Given the description of an element on the screen output the (x, y) to click on. 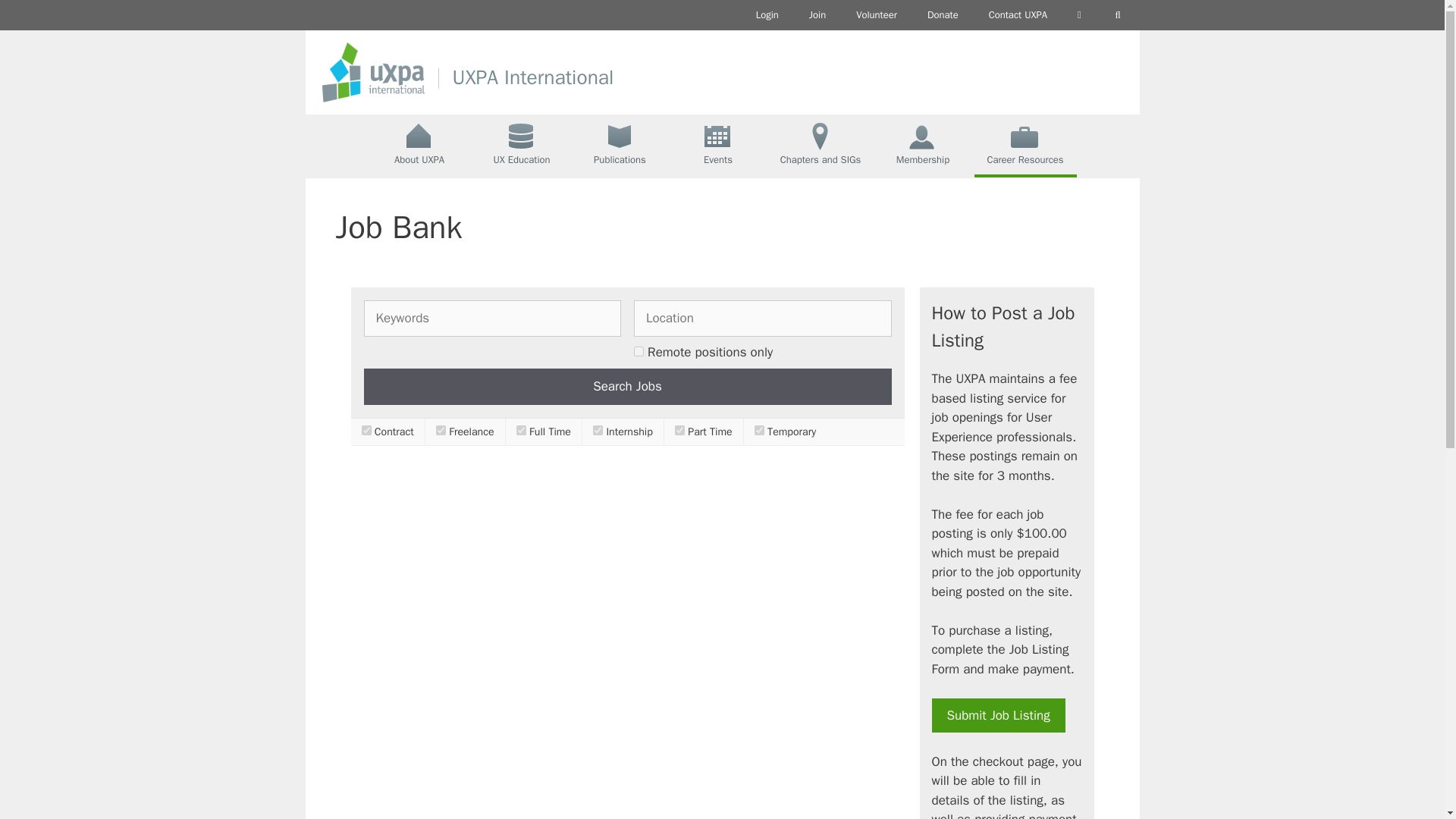
internship (597, 429)
Search (1118, 15)
Volunteer (876, 15)
full-time (520, 429)
part-time (679, 429)
1 (638, 351)
Search Jobs (627, 386)
contract (366, 429)
Contact UXPA (1018, 15)
Publications (619, 145)
